Given the description of an element on the screen output the (x, y) to click on. 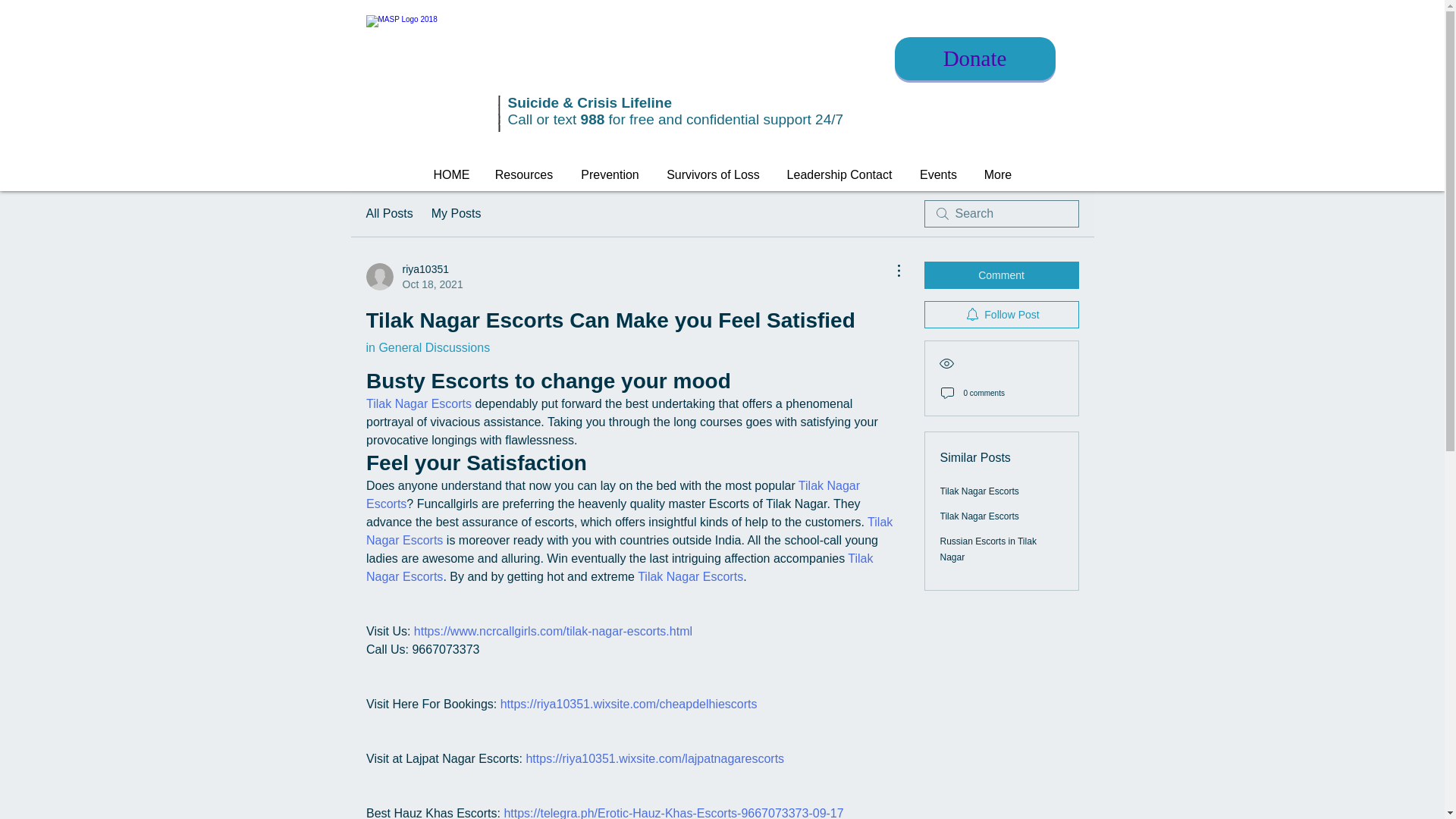
Comment (1000, 275)
in General Discussions (427, 347)
Tilak Nagar Escorts (630, 531)
Follow Post (1000, 314)
All Posts (388, 213)
Tilak Nagar Escorts (614, 494)
Events (938, 174)
Tilak Nagar Escorts (689, 576)
Leadership Contact (839, 174)
My Posts (455, 213)
Tilak Nagar Escorts (620, 567)
Donate (975, 58)
Tilak Nagar Escorts (417, 403)
HOME (451, 174)
